Given the description of an element on the screen output the (x, y) to click on. 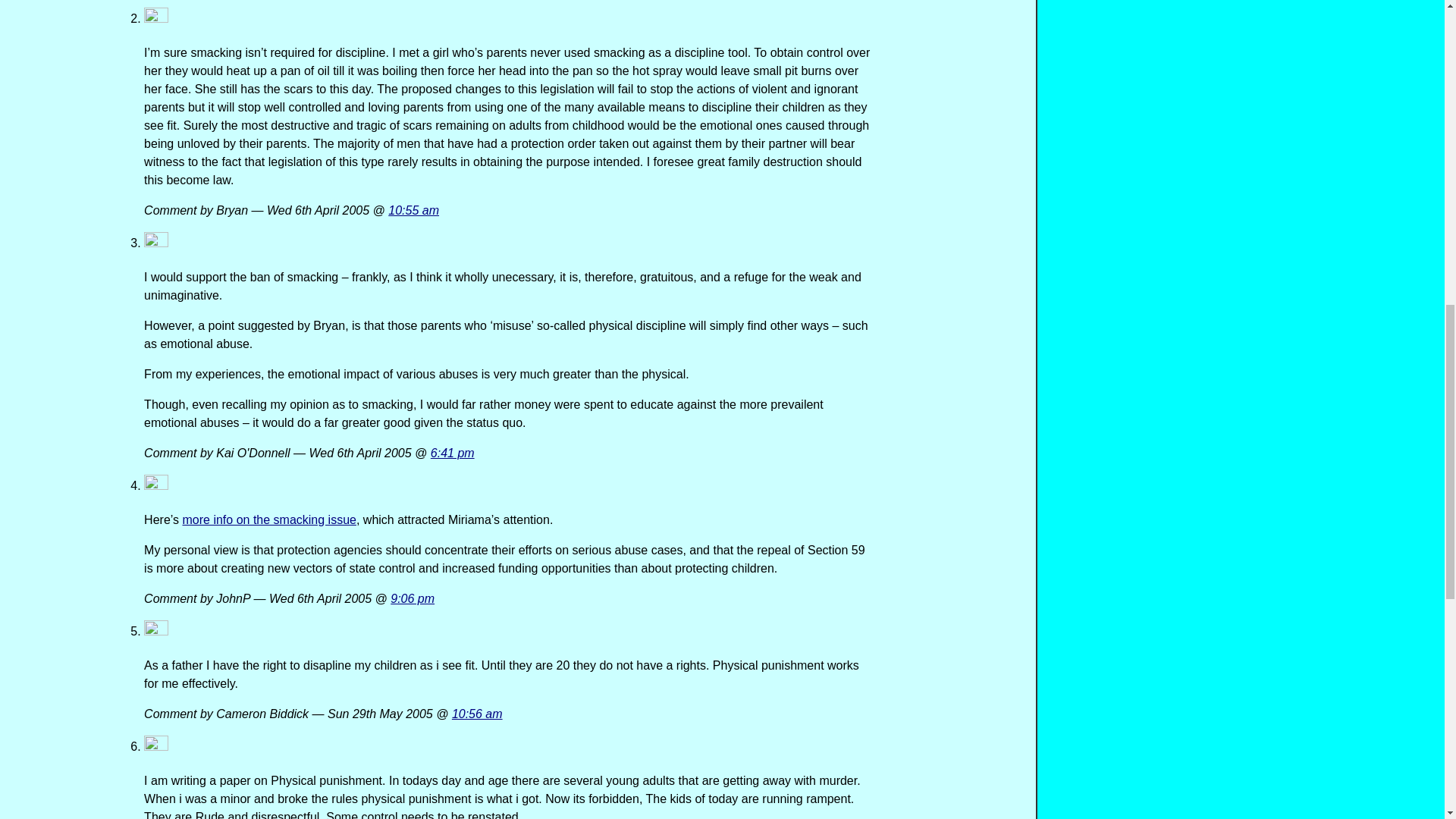
6:41 pm (452, 452)
more info on the smacking issue (268, 519)
9:06 pm (411, 598)
10:55 am (413, 210)
10:56 am (476, 713)
